Given the description of an element on the screen output the (x, y) to click on. 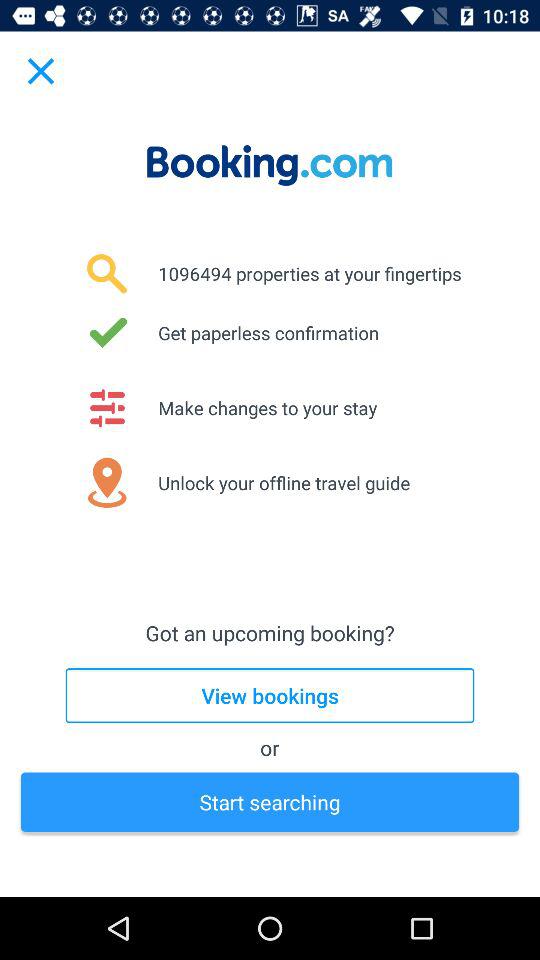
jump to view bookings (269, 695)
